Given the description of an element on the screen output the (x, y) to click on. 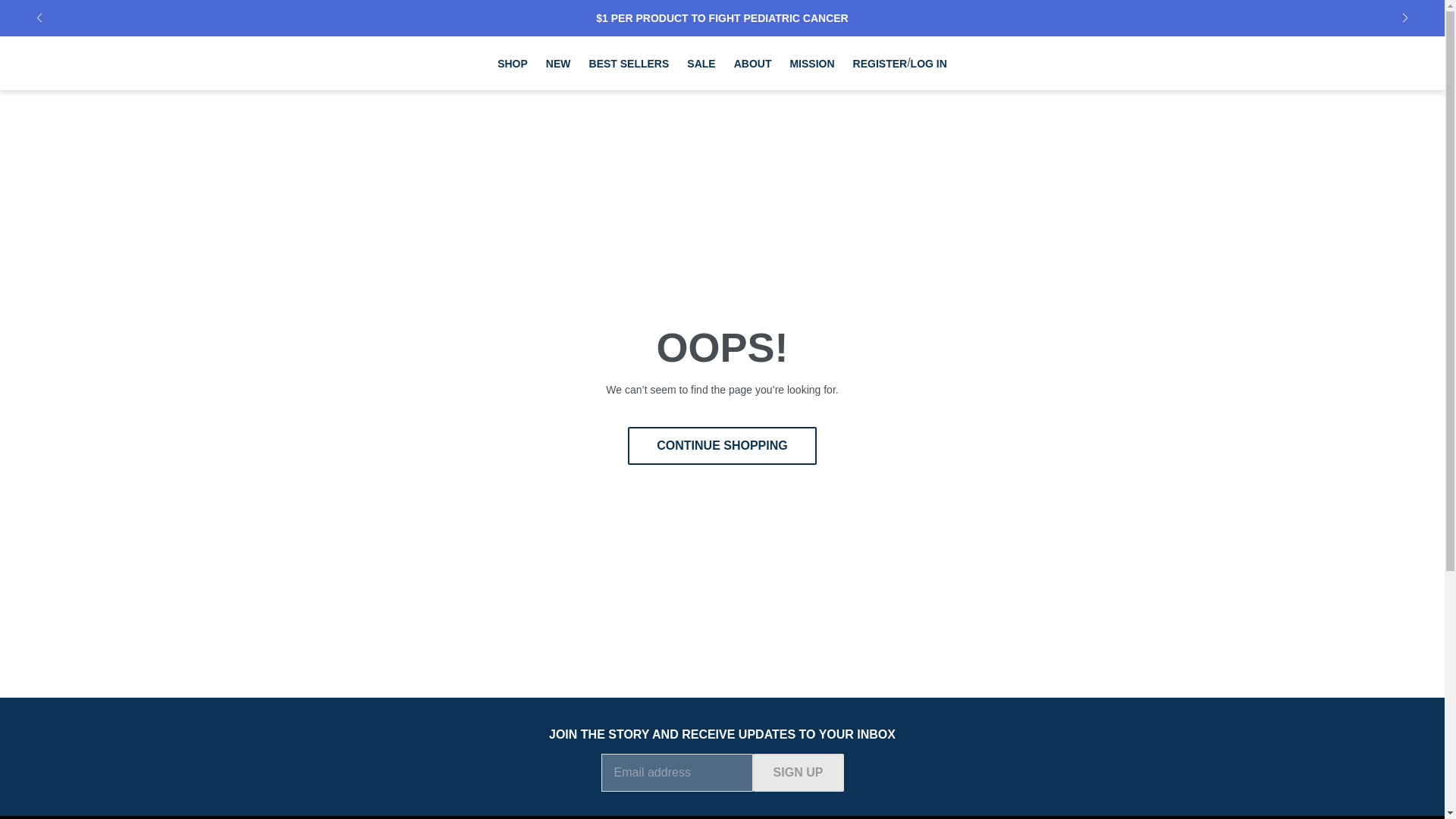
SHOP (512, 63)
NEW (558, 63)
REGISTER (880, 62)
Storefront logo (145, 63)
LOG IN (929, 62)
BEST SELLERS (628, 63)
MISSION (811, 63)
ABOUT (752, 63)
SALE (700, 63)
Storefront logo (145, 63)
